Given the description of an element on the screen output the (x, y) to click on. 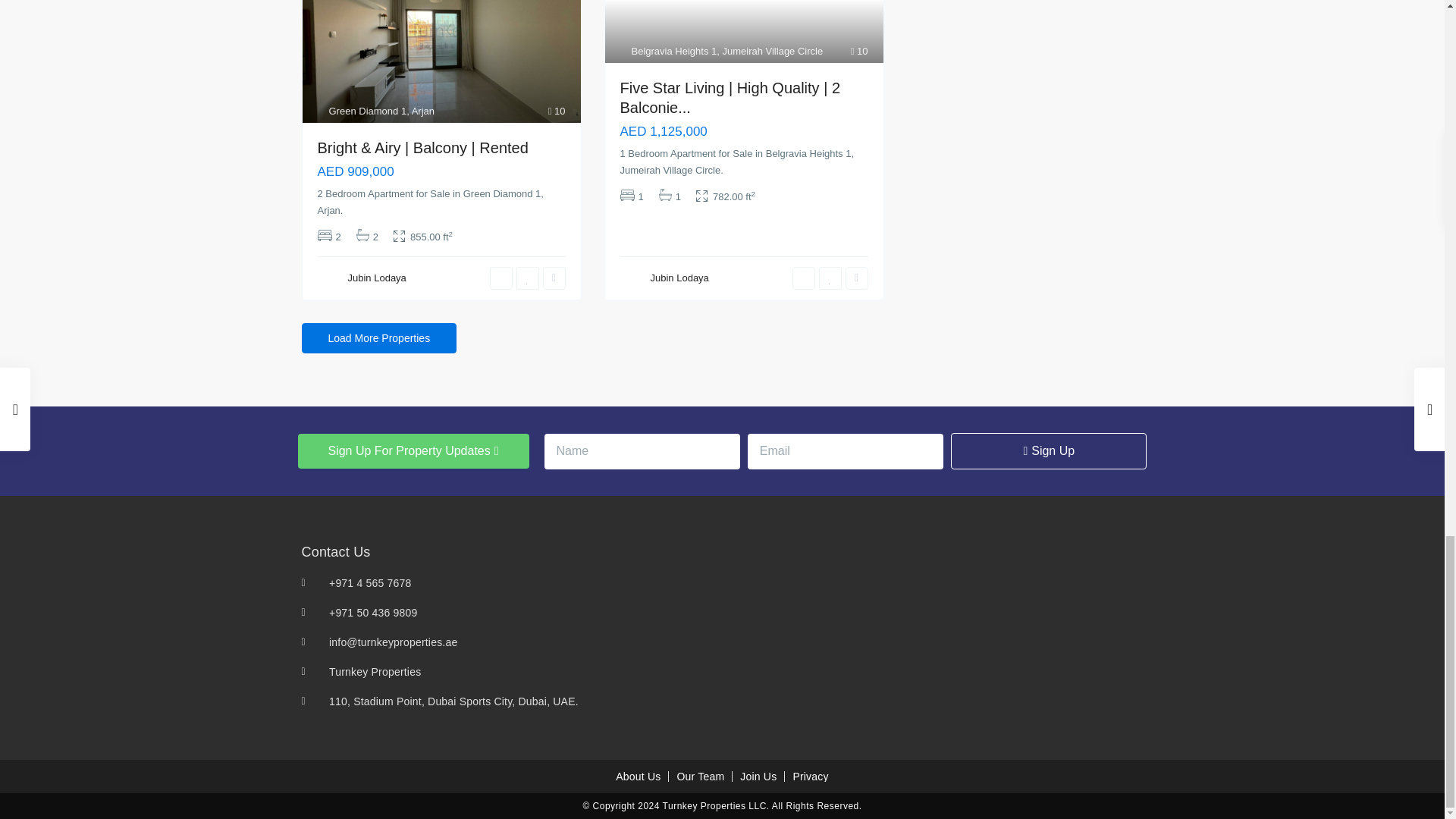
Load More Properties (379, 337)
